Given the description of an element on the screen output the (x, y) to click on. 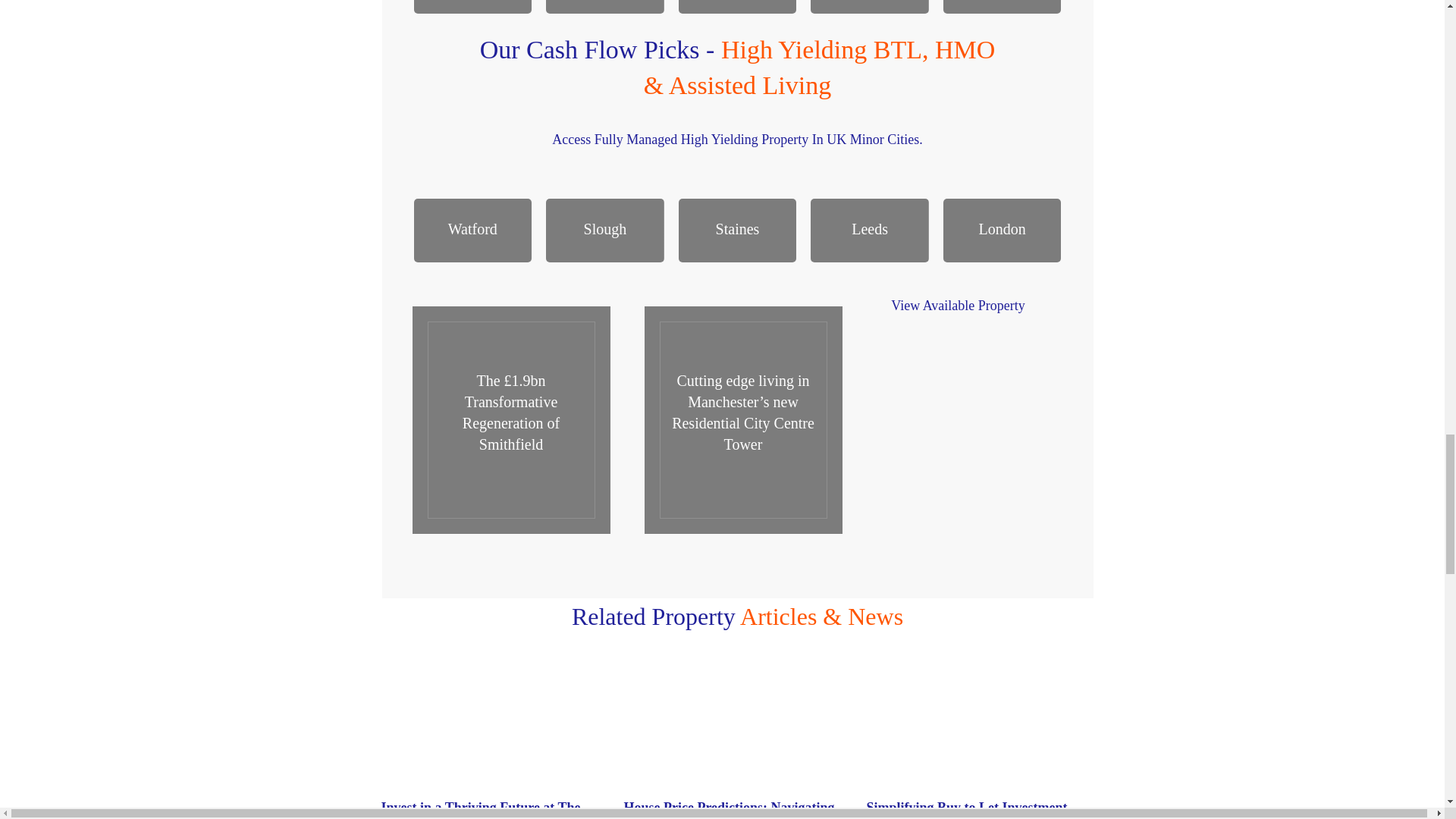
House Price Predictions: Navigating Buy to Let Investment UK (728, 809)
House Price Predictions: Navigating Buy to Let Investment UK (728, 809)
Invest in a Thriving Future at The Green Quarter, Southall (494, 743)
Invest in a Thriving Future at The Green Quarter, Southall (479, 809)
Invest in a Thriving Future at The Green Quarter, Southall (479, 809)
House Price Predictions: Navigating Buy to Let Investment UK (736, 743)
